Given the description of an element on the screen output the (x, y) to click on. 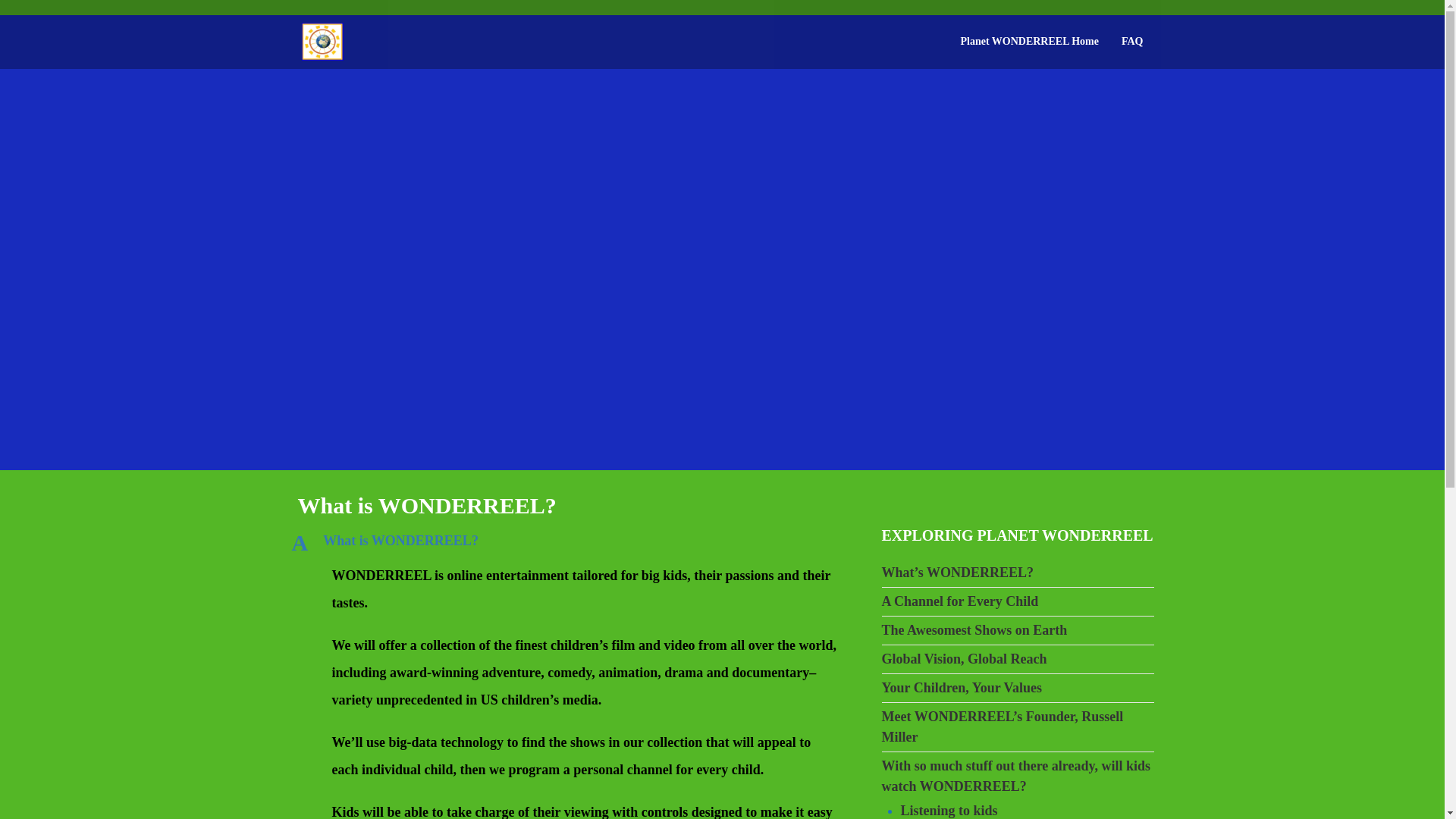
Planet WONDERREEL Home (1029, 41)
FAQ (1131, 41)
Global Vision, Global Reach (963, 658)
Listening to kids (949, 810)
A Channel for Every Child (959, 601)
FAQ (1131, 41)
The Awesomest Shows on Earth (973, 630)
Planet WONDERREEL Home (1029, 41)
Your Children, Your Values (574, 541)
